Given the description of an element on the screen output the (x, y) to click on. 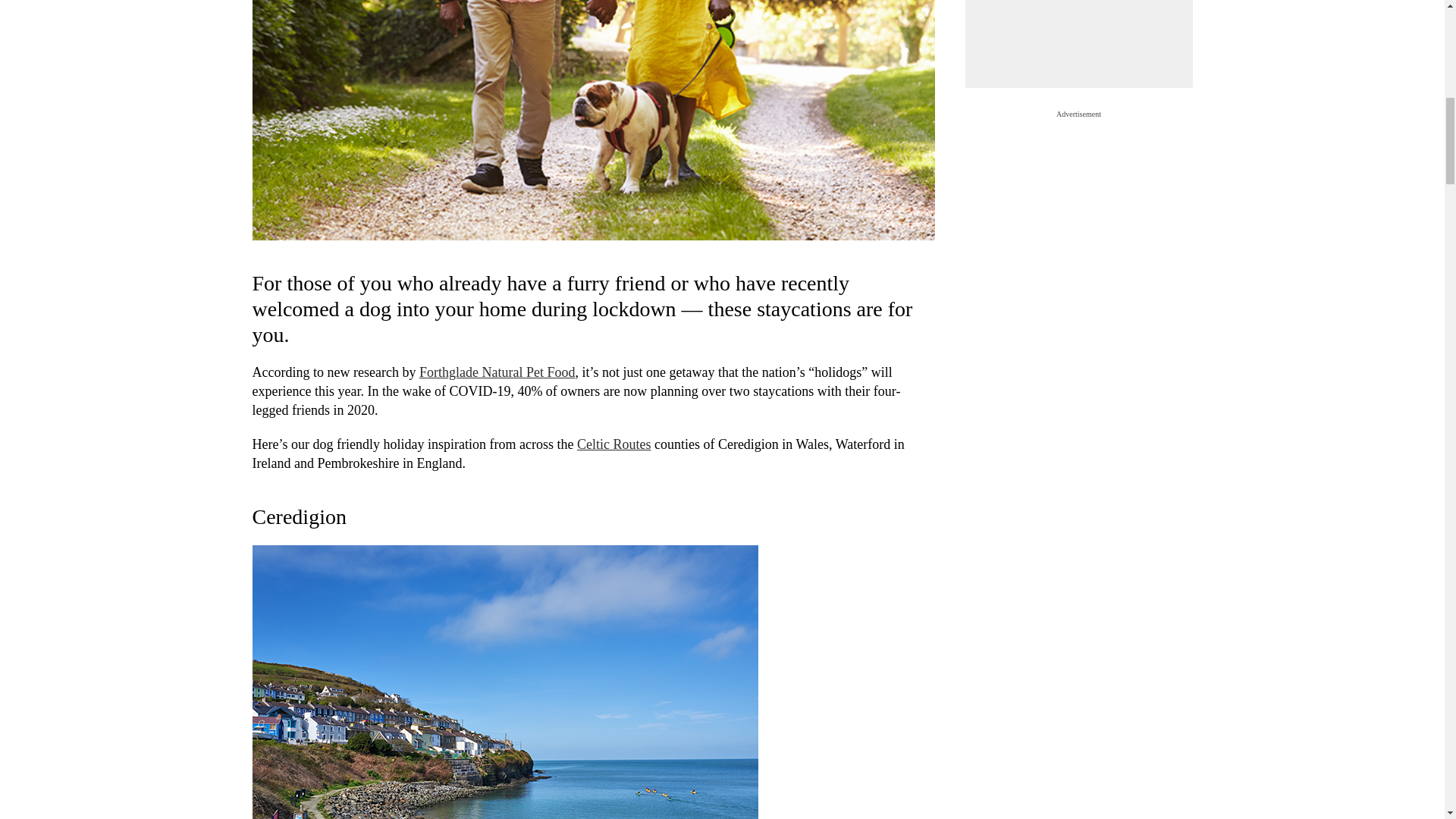
Forthglade Natural Pet Food (497, 372)
Celtic Routes (613, 444)
